Given the description of an element on the screen output the (x, y) to click on. 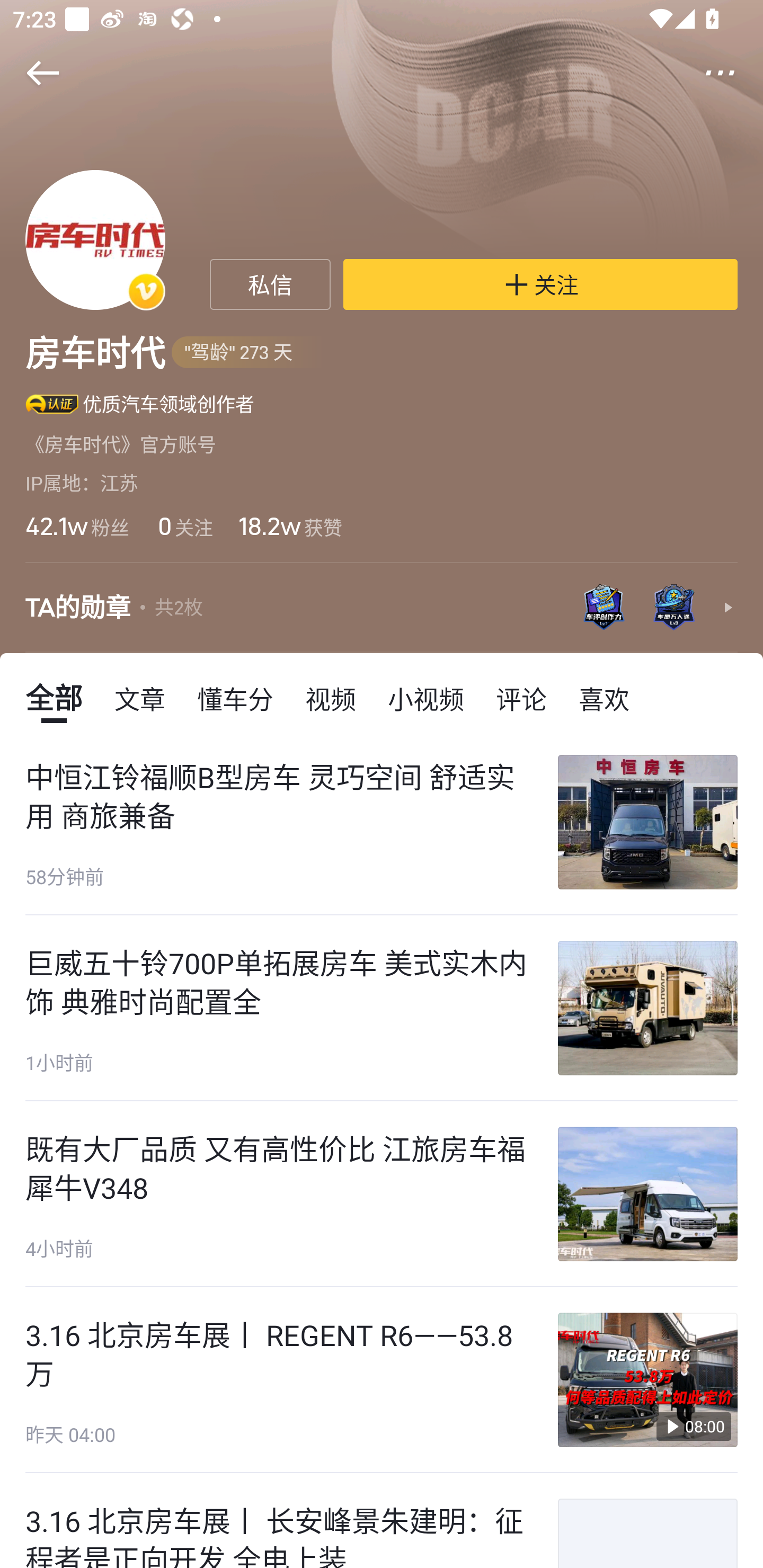
 (30, 72)
 (732, 72)
私信 (269, 284)
 关注 (540, 284)
"驾龄" 273 天 (248, 352)
42.1w 粉丝 (76, 526)
0 关注 (183, 526)
18.2w 获赞 (290, 526)
TA的勋章 共2枚  (381, 607)
全部 (53, 697)
文章 (139, 697)
懂车分 (234, 697)
视频 (330, 697)
小视频 (425, 697)
评论 (521, 697)
喜欢 (603, 697)
中恒江铃福顺B型房车 灵巧空间 舒适实用 商旅兼备 58分钟前 (381, 822)
巨威五十铃700P单拓展房车 美式实木内饰 典雅时尚配置全 1小时前 (381, 1007)
既有大厂品质 又有高性价比 江旅房车福犀牛V348 4小时前 (381, 1193)
3.16 北京房车展丨 REGENT R6——53.8万 昨天 04:00  08:00 (381, 1380)
3.16 北京房车展丨 长安峰景朱建明：征程者是正向开发 全电上装 (381, 1520)
